Given the description of an element on the screen output the (x, y) to click on. 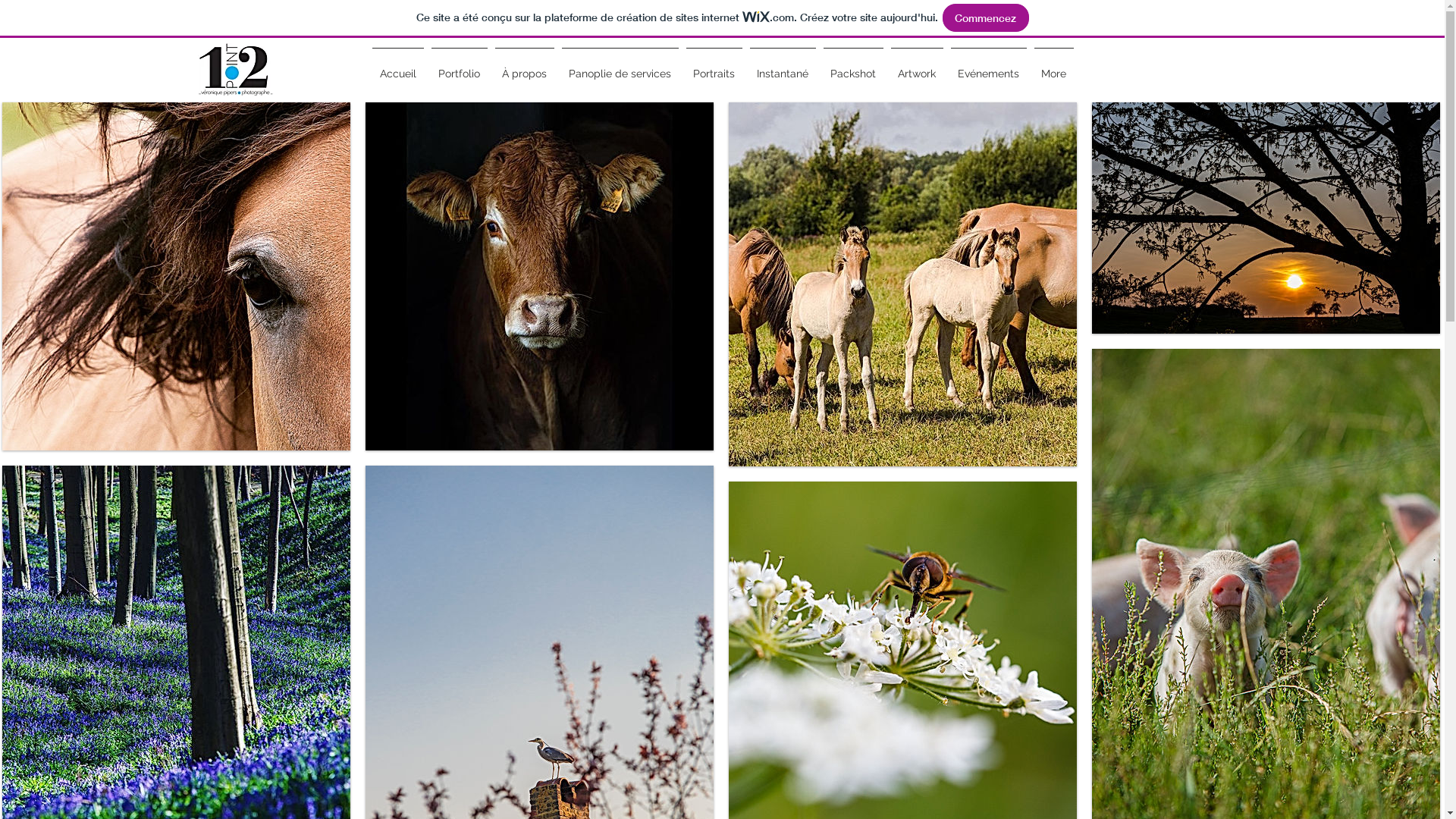
Accueil Element type: text (397, 66)
Packshot Element type: text (852, 66)
Portfolio Element type: text (459, 66)
Panoplie de services Element type: text (620, 66)
Artwork Element type: text (917, 66)
Portraits Element type: text (714, 66)
